Given the description of an element on the screen output the (x, y) to click on. 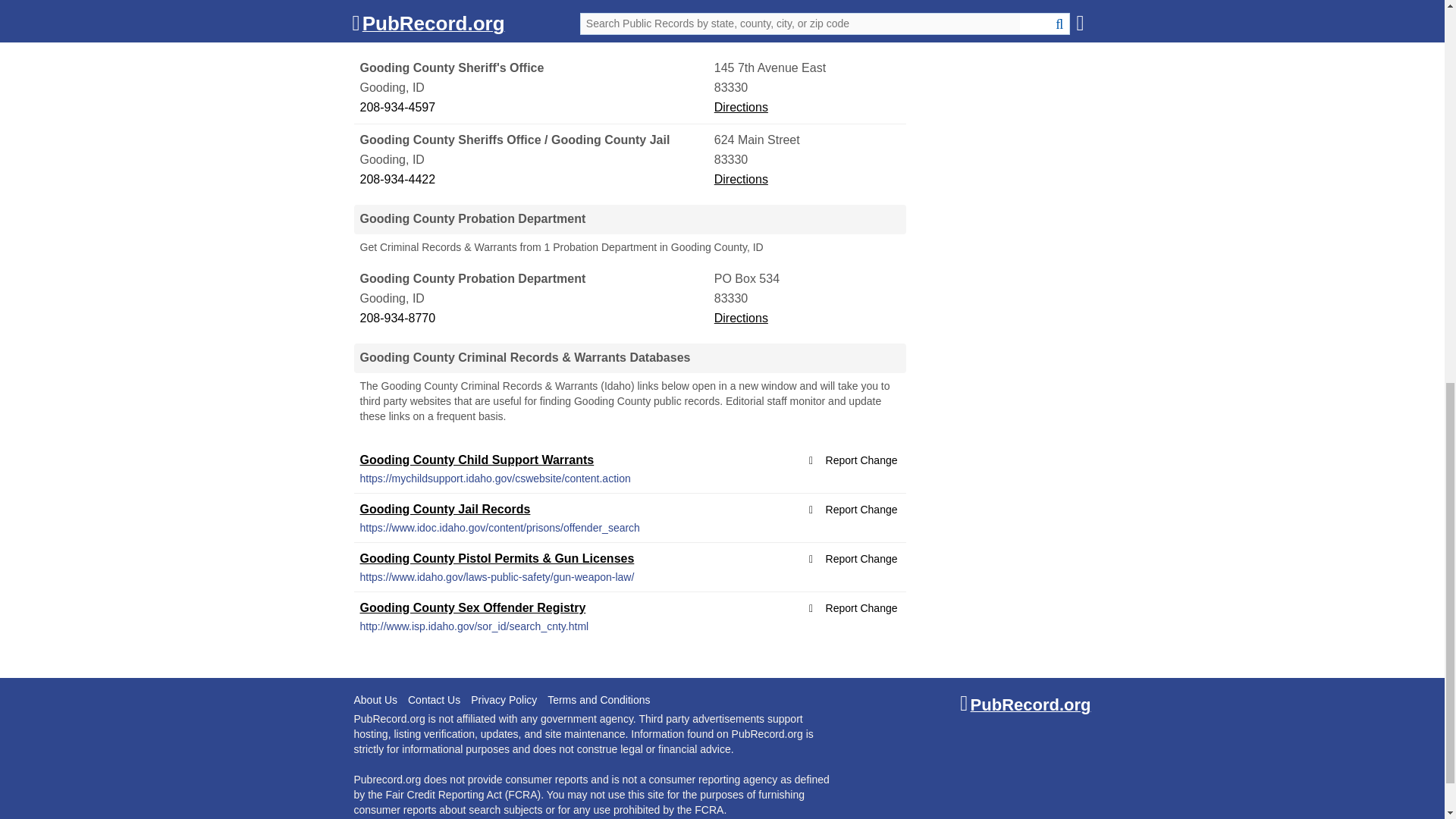
Gooding County Child Support Warrants (476, 459)
208-934-8770 (534, 318)
208-934-4422 (534, 179)
Directions (741, 318)
Gooding County Jail Records (444, 508)
Directions (741, 106)
208-934-4597 (534, 107)
Gooding County Sex Offender Registry (472, 607)
Directions (741, 178)
Gooding County Jail Records (444, 508)
